Given the description of an element on the screen output the (x, y) to click on. 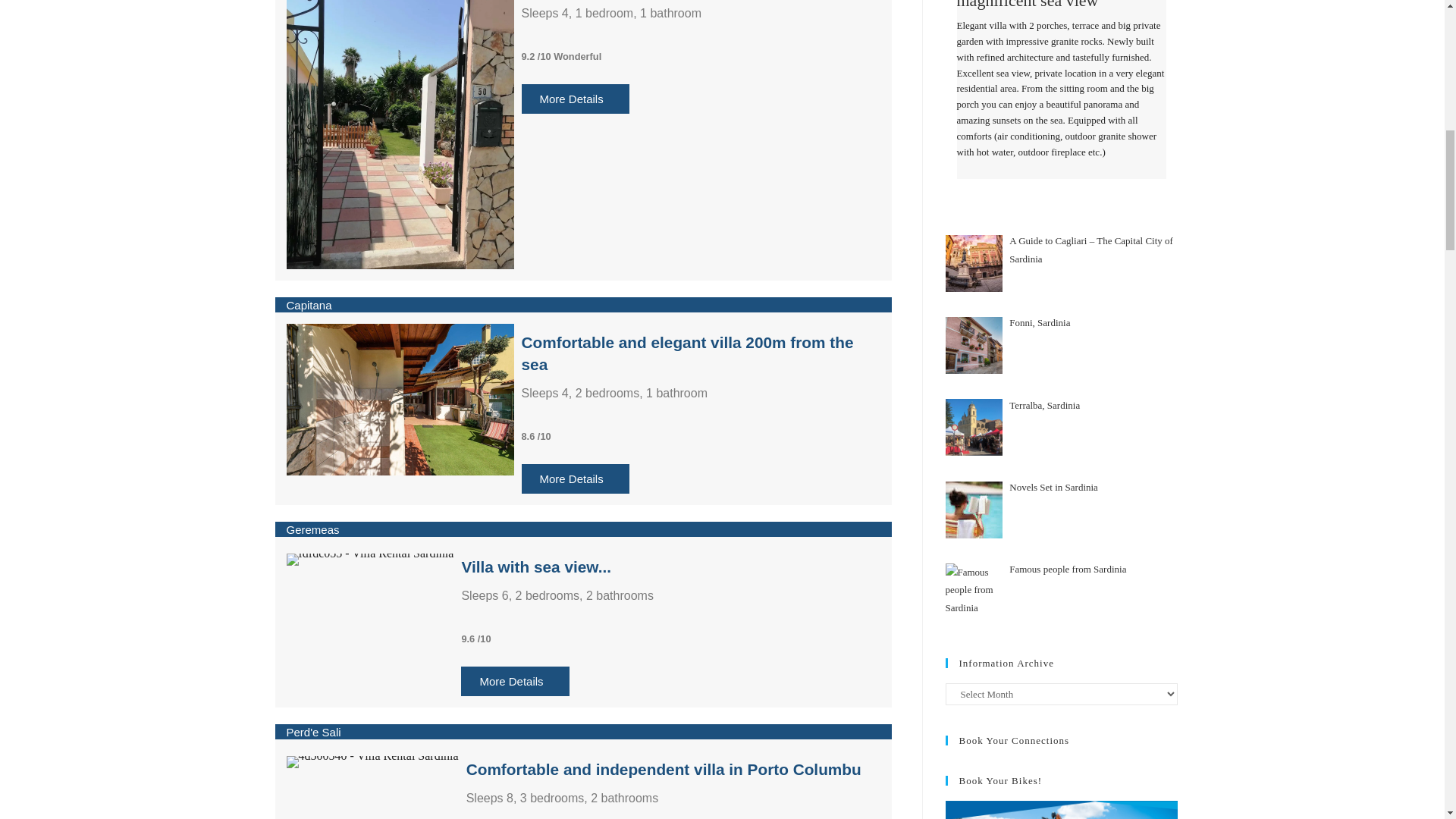
Villa Rental Cagliari - Villas Sardinia (399, 399)
Villa Rental Cagliari - Villas Sardinia (370, 559)
Villa Rental Cagliari - Villas Sardinia (372, 761)
